Given the description of an element on the screen output the (x, y) to click on. 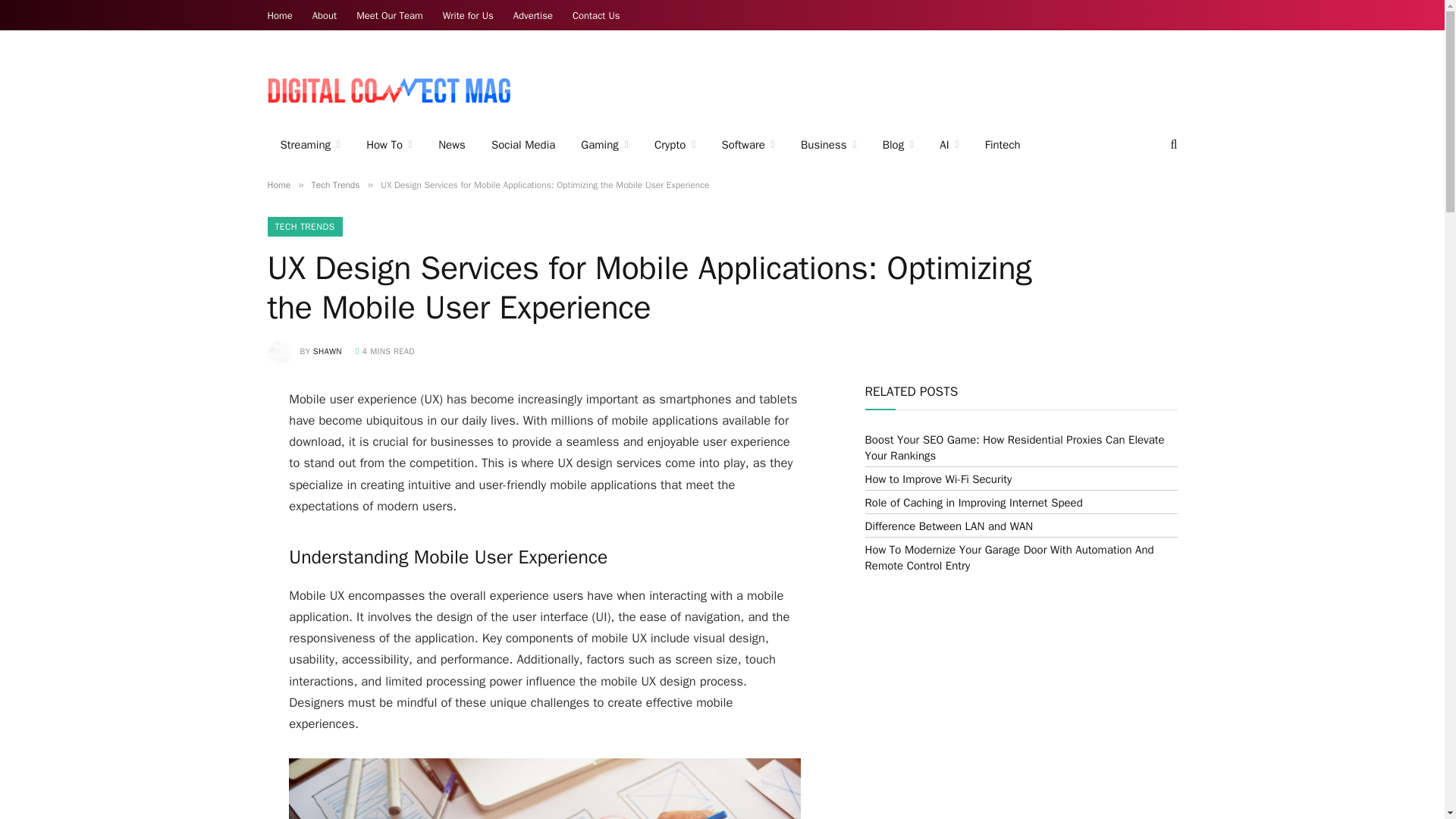
Digital Connect Mag (388, 84)
News (452, 144)
Advertise (532, 15)
Contact Us (596, 15)
How To (389, 144)
About (324, 15)
Social Media (523, 144)
Home (279, 15)
Streaming (309, 144)
Meet Our Team (389, 15)
Posts by Shawn (327, 350)
Write for Us (467, 15)
Gaming (604, 144)
